Given the description of an element on the screen output the (x, y) to click on. 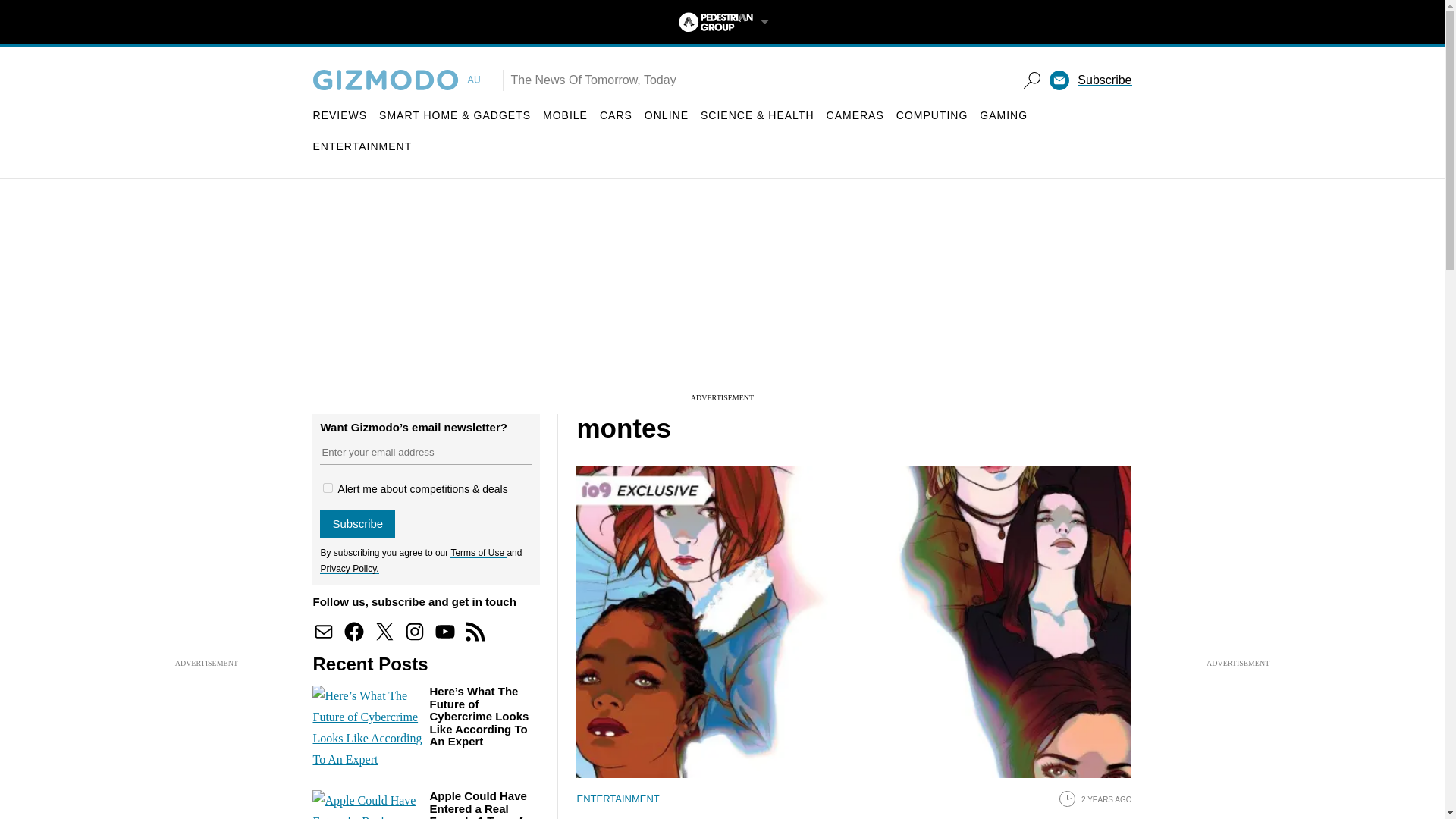
CARS (615, 115)
ENTERTAINMENT (362, 145)
REVIEWS (339, 115)
GAMING (1003, 115)
ONLINE (666, 115)
CAMERAS (855, 115)
Subscribe (1104, 79)
Subscribe (357, 523)
MOBILE (565, 115)
COMPUTING (932, 115)
